Given the description of an element on the screen output the (x, y) to click on. 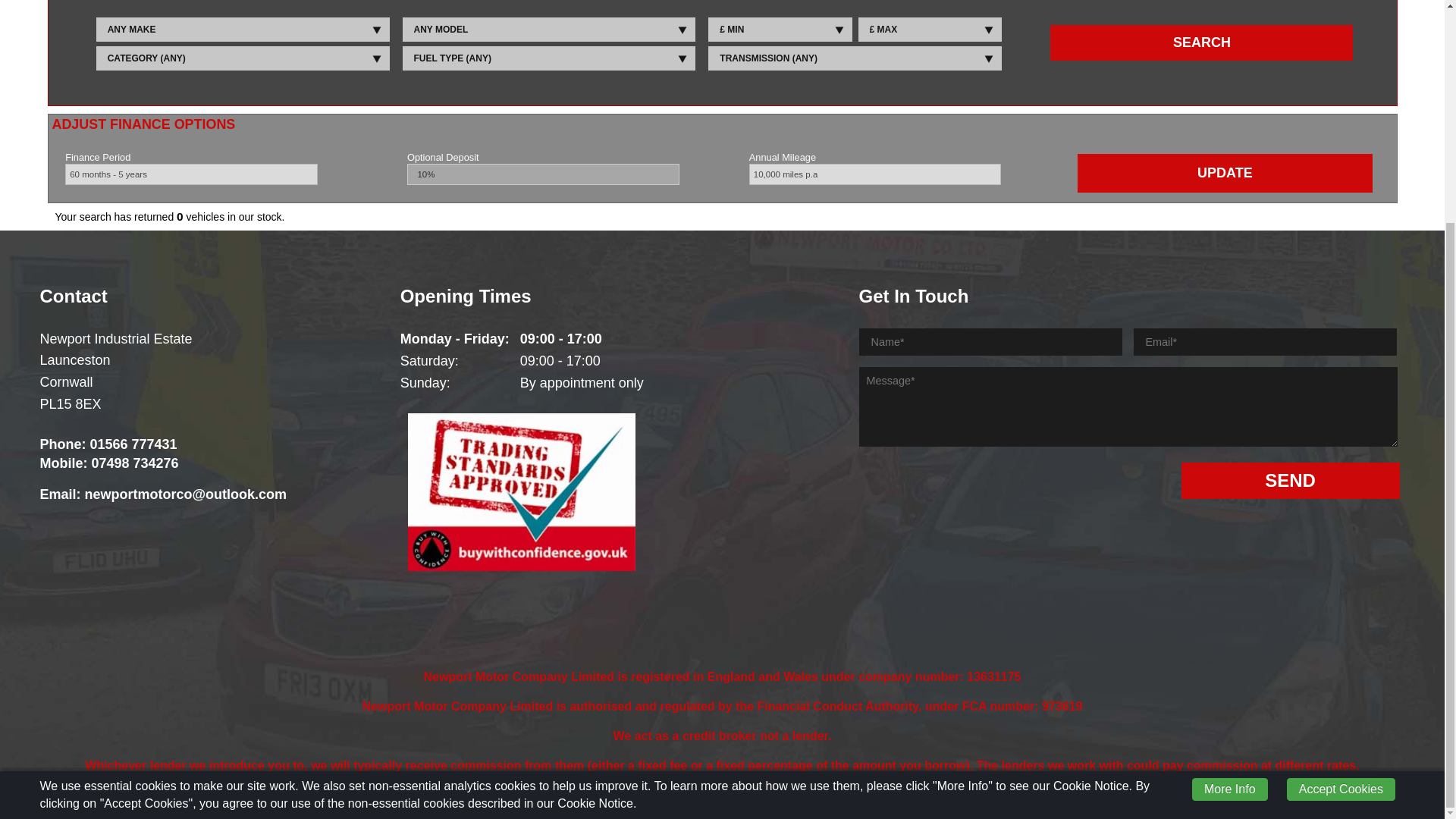
Accept Cookies (1340, 493)
Update (1225, 172)
send (1289, 480)
Motors.co.uk (679, 801)
Search (1200, 42)
Cookie Policy (745, 801)
Search (1200, 42)
Search (1200, 42)
send (1289, 480)
More Info (1230, 493)
